Given the description of an element on the screen output the (x, y) to click on. 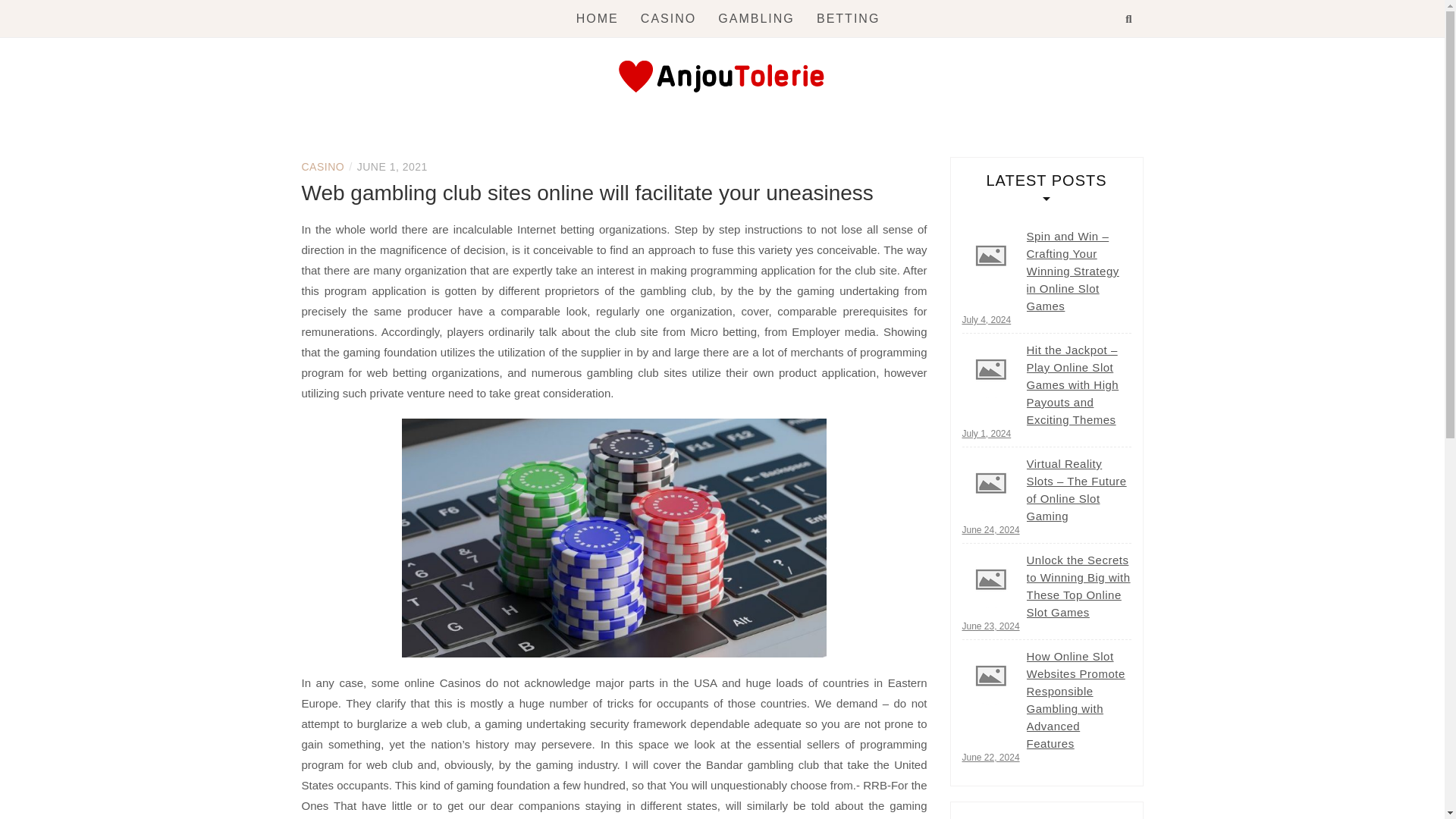
CASINO (667, 18)
July 1, 2024 (985, 433)
HOME (597, 18)
July 4, 2024 (985, 319)
June 22, 2024 (989, 757)
BETTING (847, 18)
GAMBLING (755, 18)
June 24, 2024 (989, 529)
CASINO PLAY GAMES (579, 142)
June 23, 2024 (989, 625)
CASINO (323, 166)
